Given the description of an element on the screen output the (x, y) to click on. 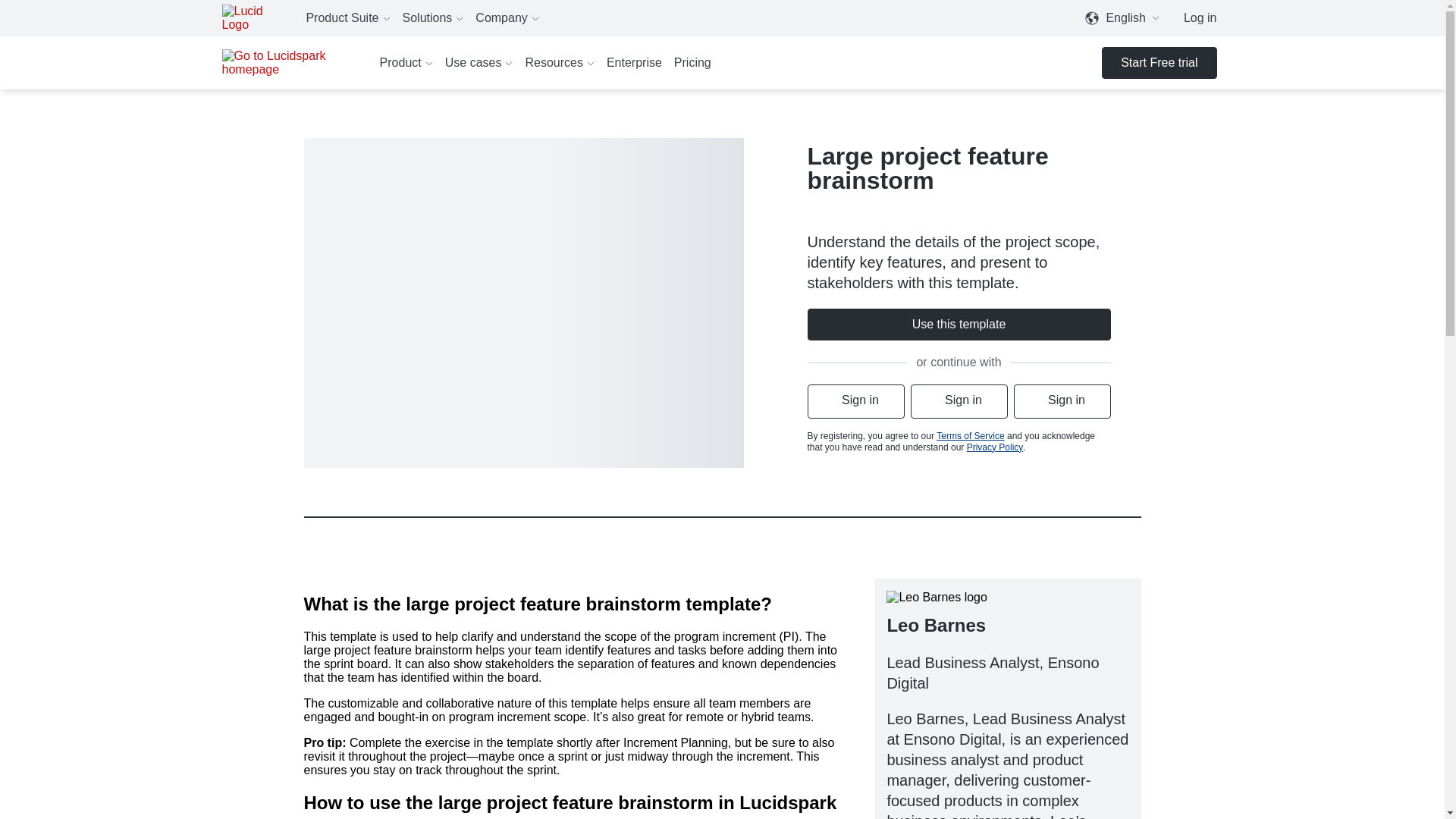
Company (506, 18)
Product Suite (347, 18)
Solutions (432, 18)
English (1124, 18)
